Given the description of an element on the screen output the (x, y) to click on. 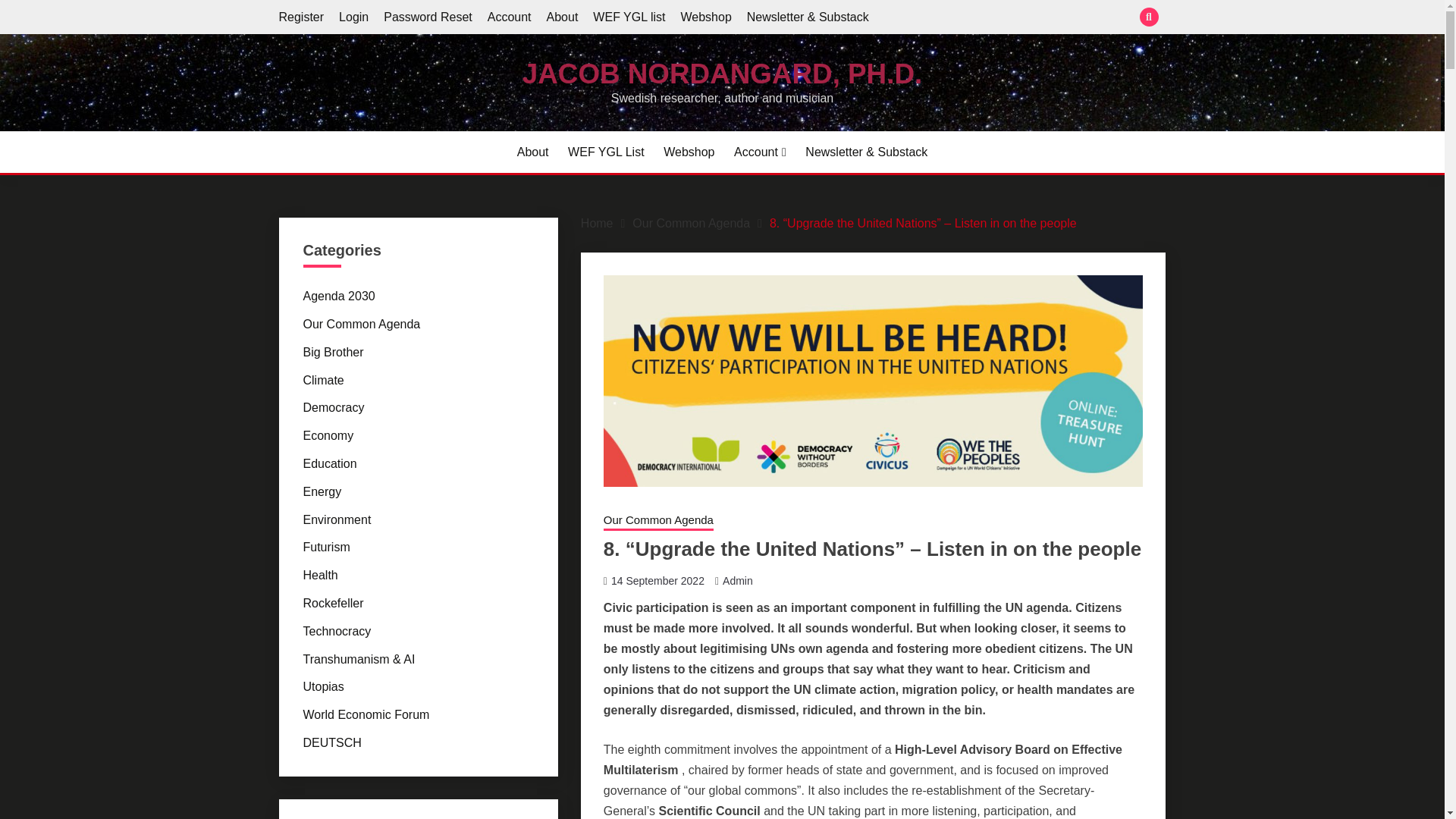
WEF YGL List (605, 152)
Admin (737, 580)
Account (509, 16)
Webshop (704, 16)
Our Common Agenda (658, 521)
Home (596, 223)
Webshop (688, 152)
14 September 2022 (657, 580)
About (532, 152)
Login (353, 16)
JACOB NORDANGARD, PH.D. (721, 73)
Account (759, 152)
About (562, 16)
Search (832, 18)
Password Reset (427, 16)
